Given the description of an element on the screen output the (x, y) to click on. 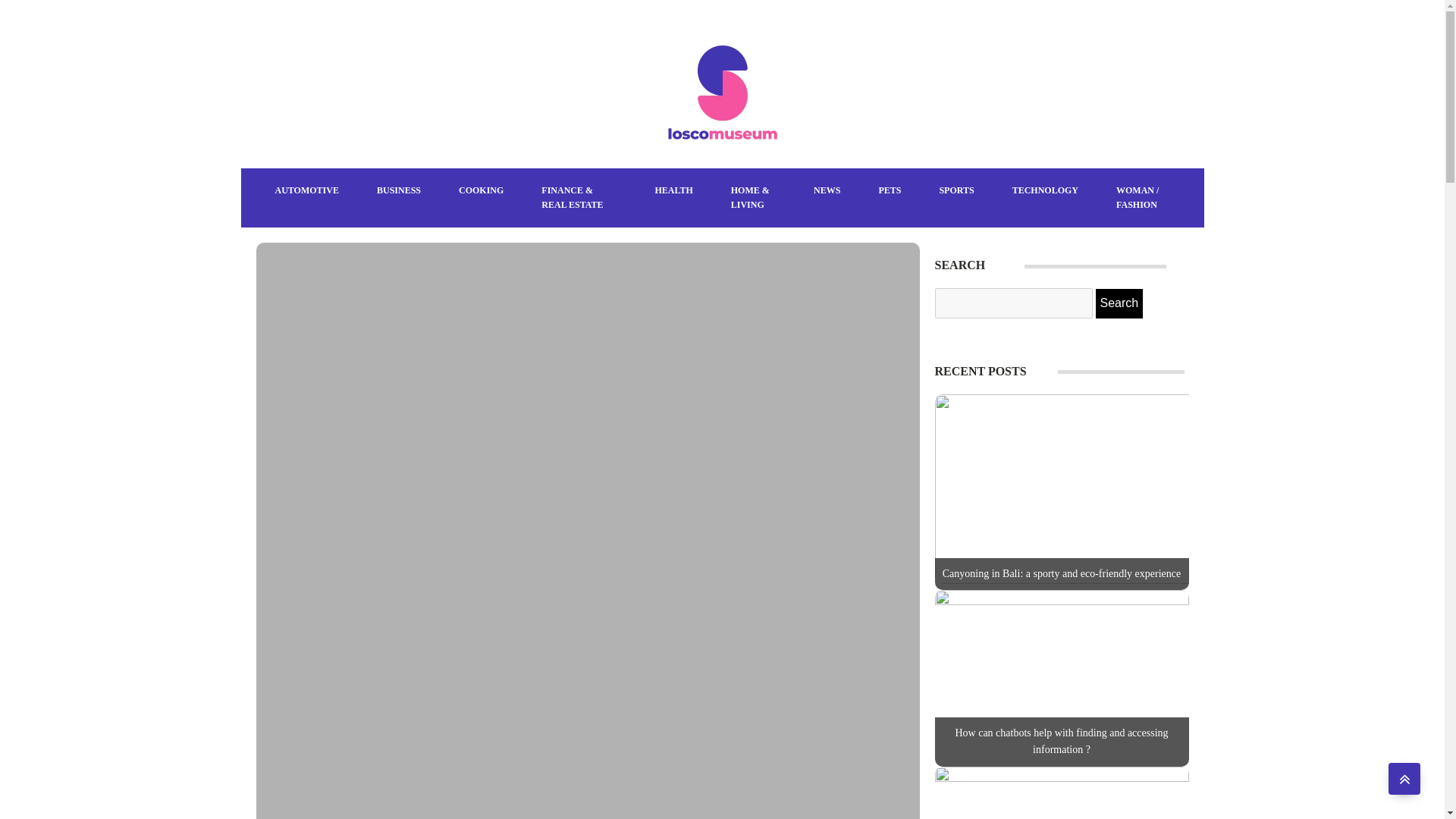
BUSINESS (398, 190)
SPORTS (956, 190)
COOKING (480, 190)
NEWS (826, 190)
AUTOMOTIVE (307, 190)
PETS (889, 190)
HEALTH (672, 190)
